Given the description of an element on the screen output the (x, y) to click on. 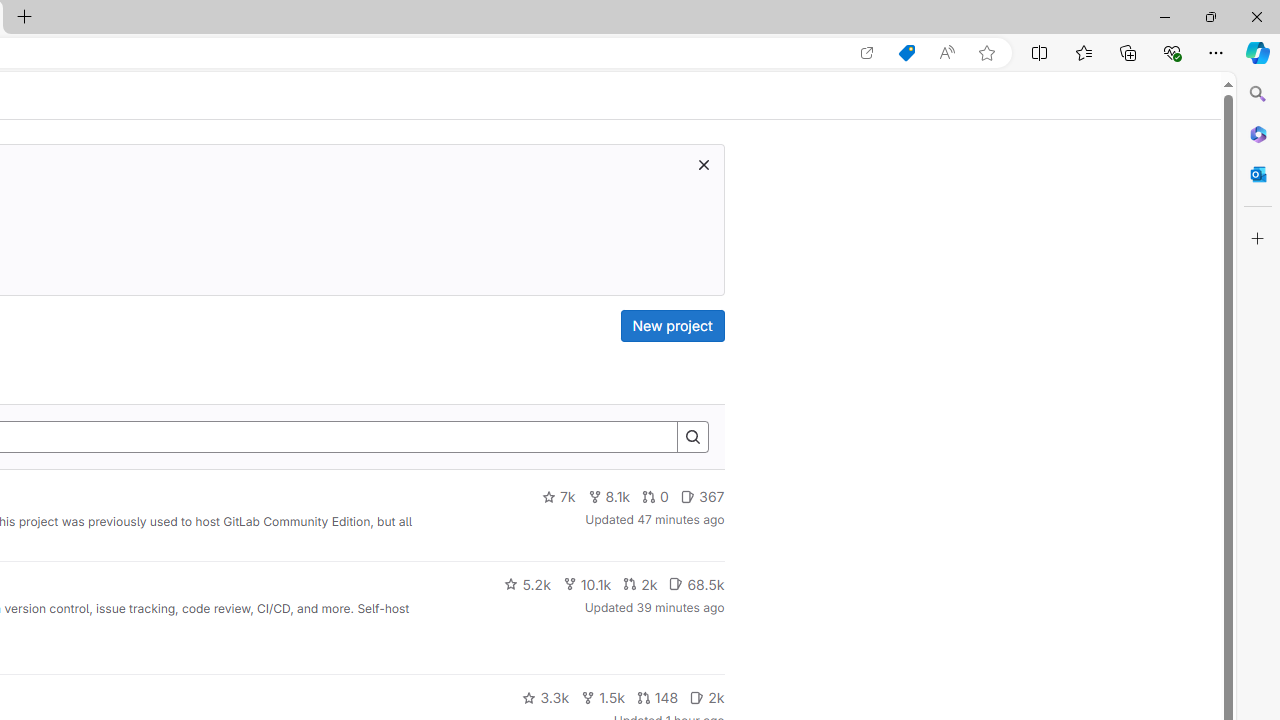
5.2k (527, 583)
Class: s16 gl-icon gl-button-icon  (703, 164)
Dismiss trial promotion (703, 164)
10.1k (586, 583)
New project (671, 326)
2k (706, 697)
367 (701, 497)
7k (558, 497)
